Given the description of an element on the screen output the (x, y) to click on. 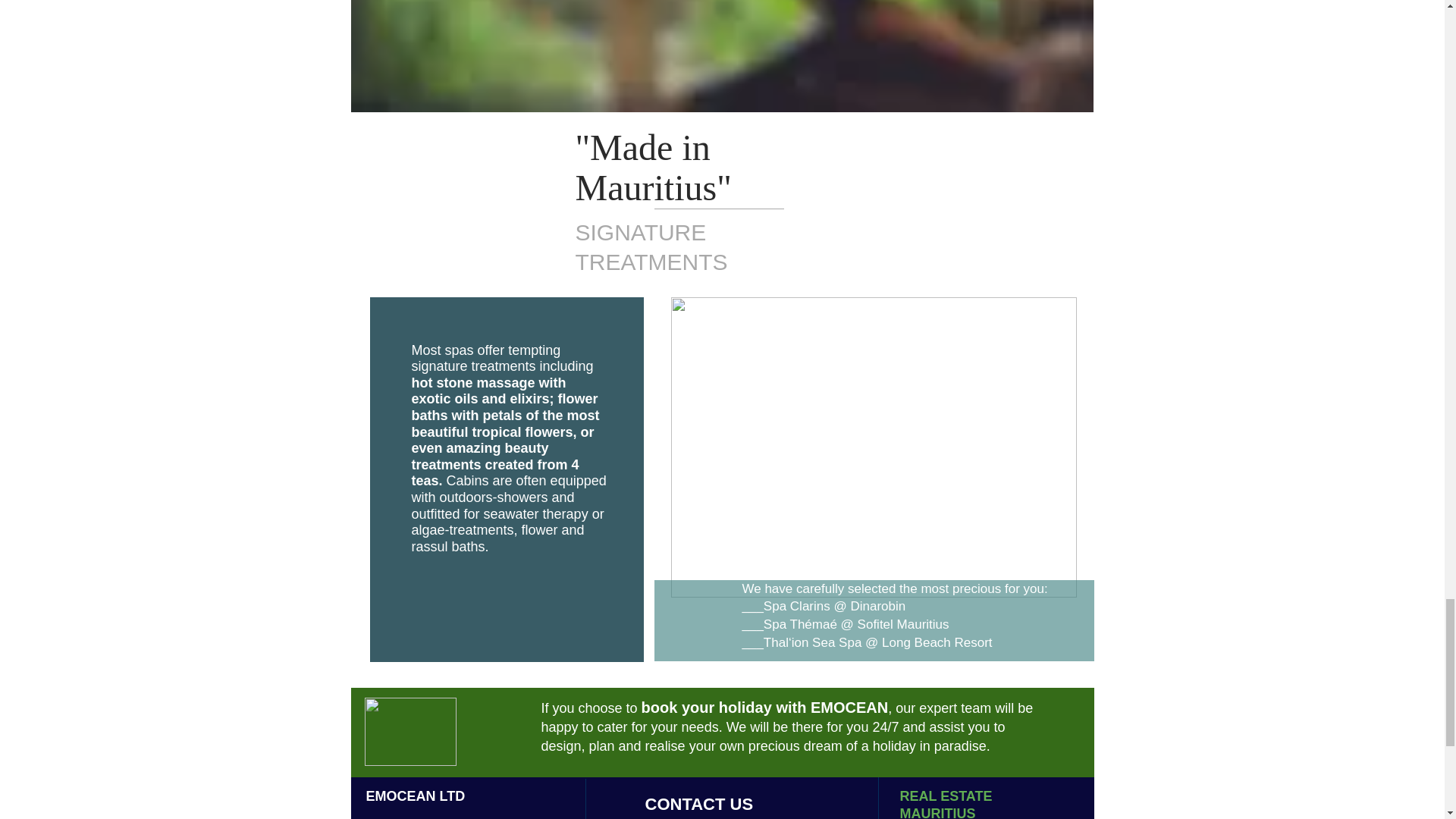
REAL ESTATE MAURITIUS (945, 803)
Indian-spa02.jpg (872, 447)
EMOCEAN LTD (414, 795)
